Given the description of an element on the screen output the (x, y) to click on. 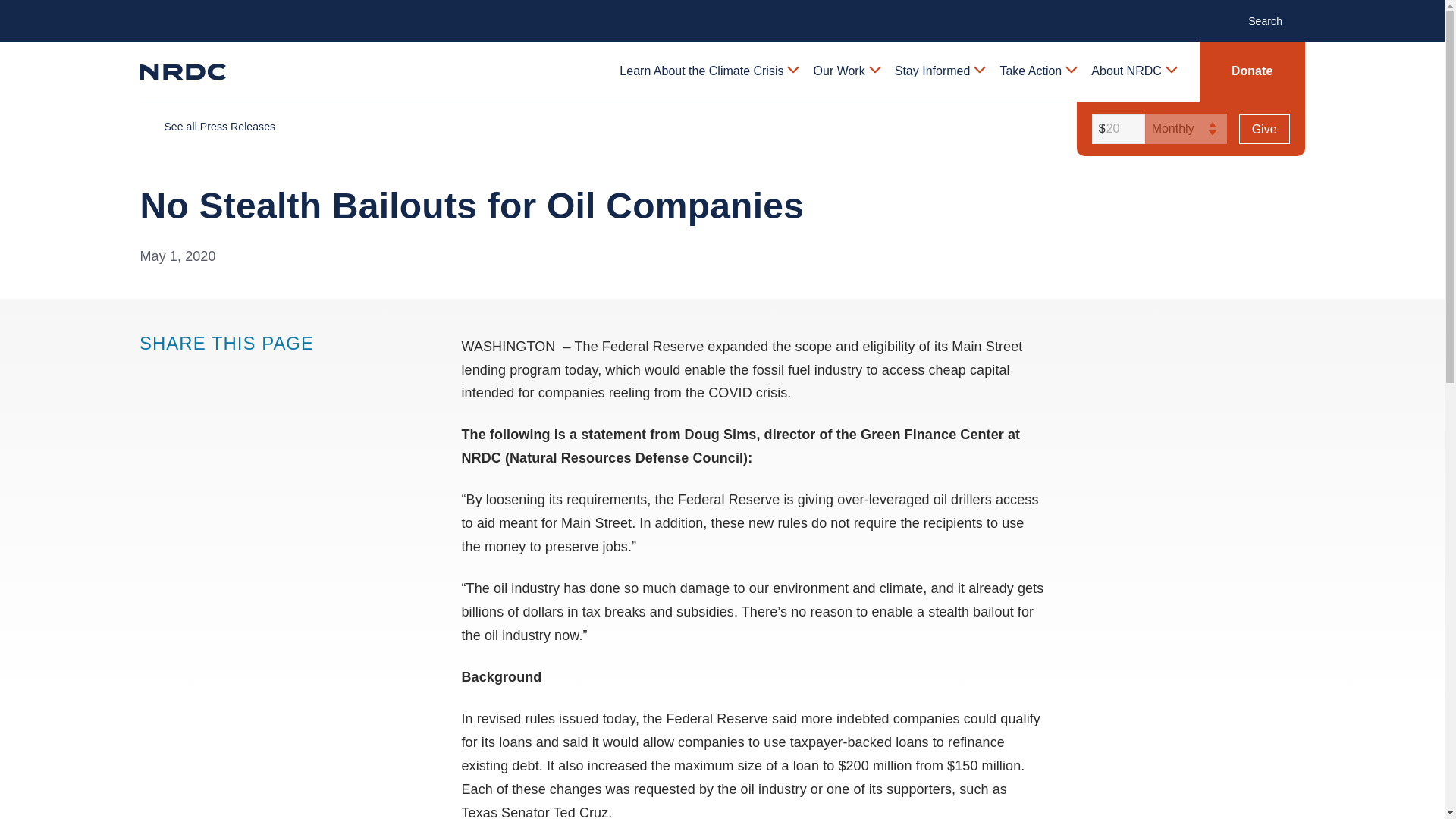
Our Work (846, 71)
Skip to main content (721, 12)
Share this page block (210, 371)
Share this page block (149, 371)
Learn About the Climate Crisis (707, 71)
20 (1116, 128)
Share this page block (180, 371)
Stay Informed (939, 71)
Take Action (1036, 71)
Search (1272, 19)
